Given the description of an element on the screen output the (x, y) to click on. 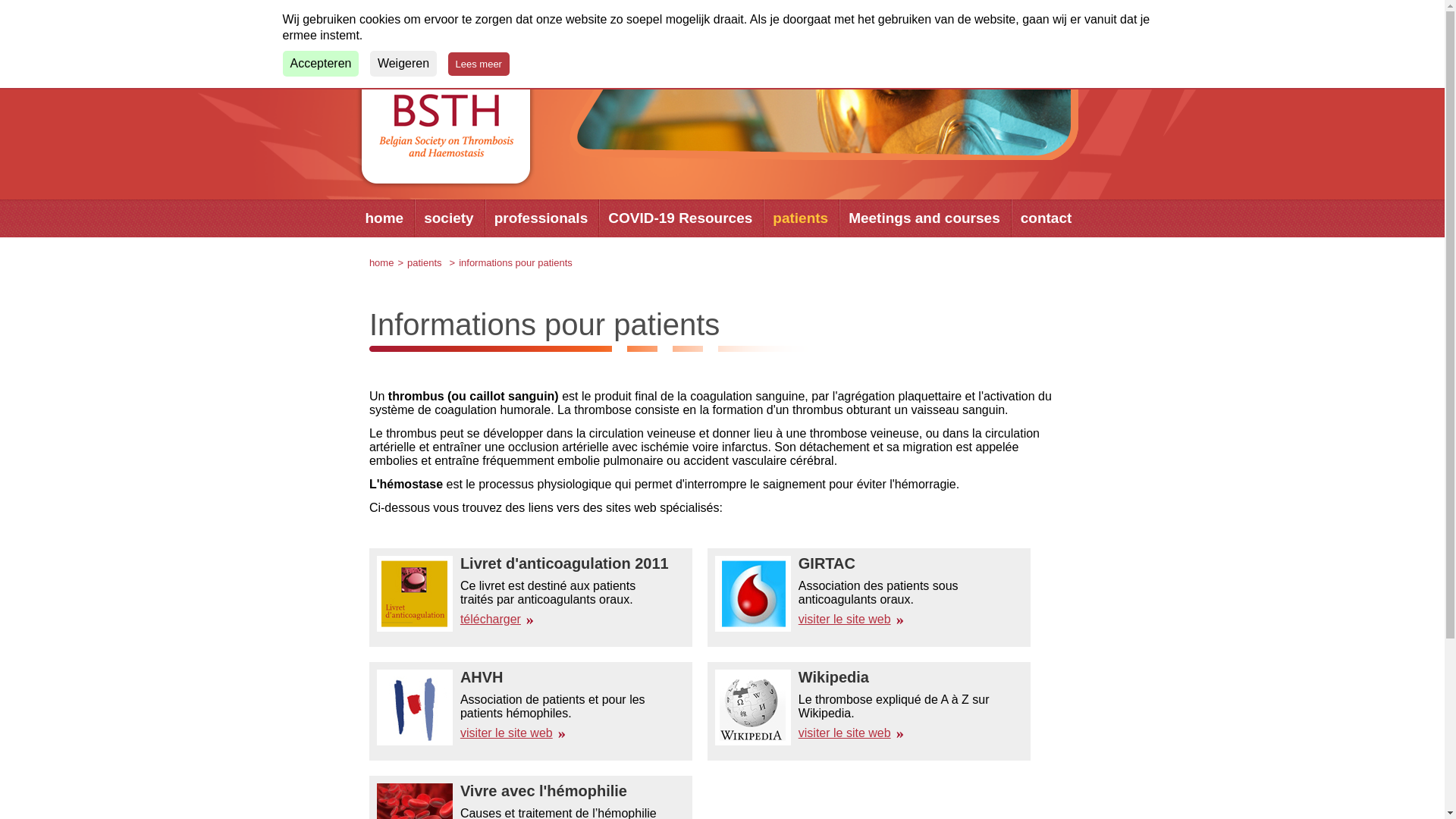
Wikipedia Element type: hover (752, 707)
home Element type: text (383, 218)
home Element type: text (381, 262)
visiter le site web Element type: text (512, 732)
AHVH Element type: hover (414, 707)
BSTH Patients - Informations pour patients Element type: hover (820, 105)
visiter le site web Element type: text (850, 618)
Member Login Element type: text (1037, 15)
Lees meer Element type: text (478, 63)
contact Element type: text (1046, 218)
COVID-19 Resources Element type: text (680, 218)
Accepteren Element type: text (320, 63)
Meetings and courses Element type: text (924, 218)
informations pour patients Element type: text (515, 262)
society Element type: text (448, 218)
patients Element type: text (424, 262)
Weigeren Element type: text (403, 63)
visiter le site web Element type: text (850, 732)
Livret d'anticoagulation 2011 Element type: hover (414, 593)
GIRTAC Element type: hover (752, 593)
professionals Element type: text (541, 218)
patients Element type: text (799, 218)
